Given the description of an element on the screen output the (x, y) to click on. 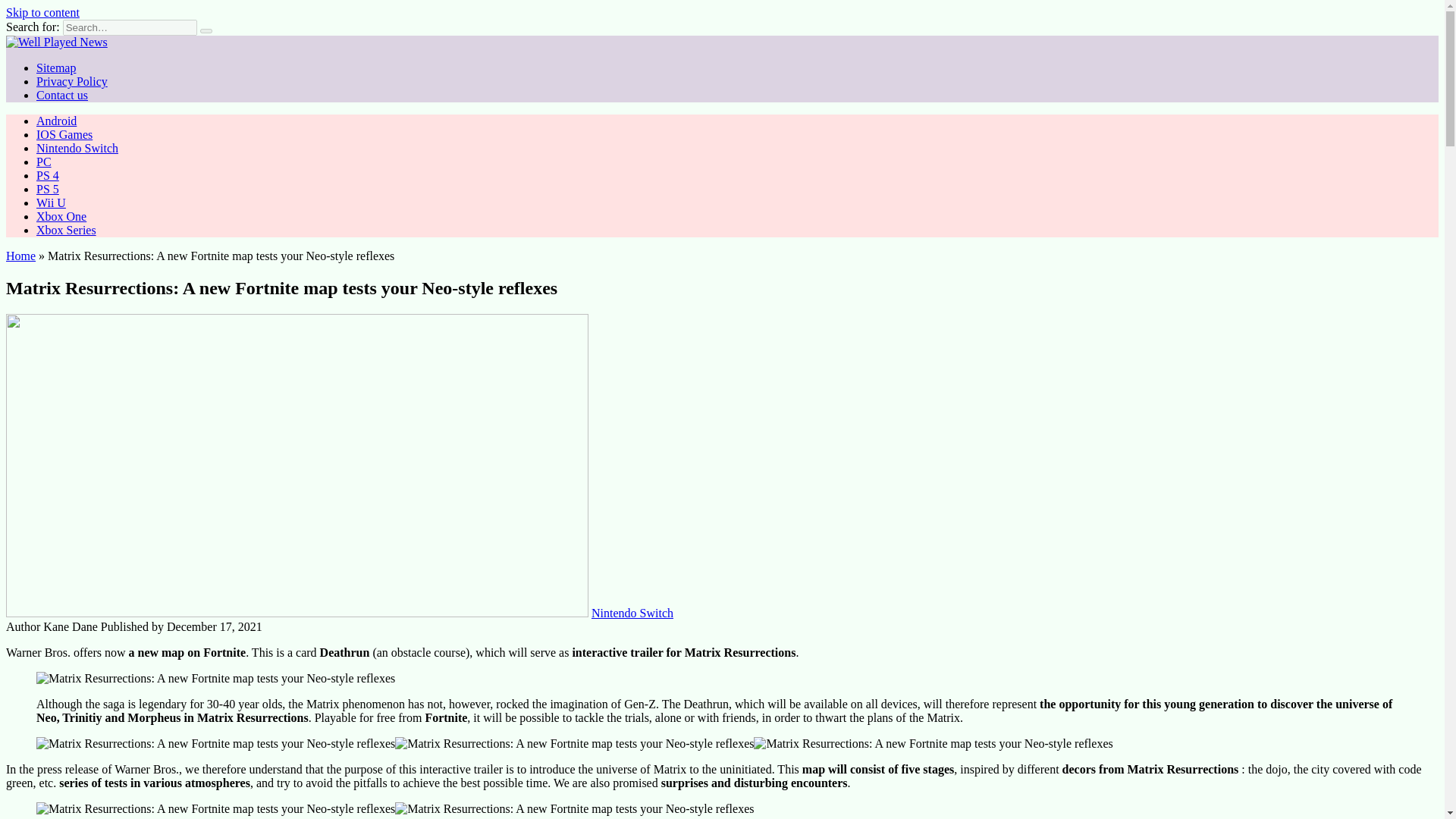
PC (43, 161)
IOS Games (64, 133)
Privacy Policy (71, 81)
Android (56, 120)
Nintendo Switch (631, 612)
PS 4 (47, 174)
Contact us (61, 94)
Nintendo Switch (76, 147)
Sitemap (55, 67)
Xbox One (60, 215)
Skip to content (42, 11)
Wii U (50, 202)
Home (19, 255)
PS 5 (47, 188)
